Given the description of an element on the screen output the (x, y) to click on. 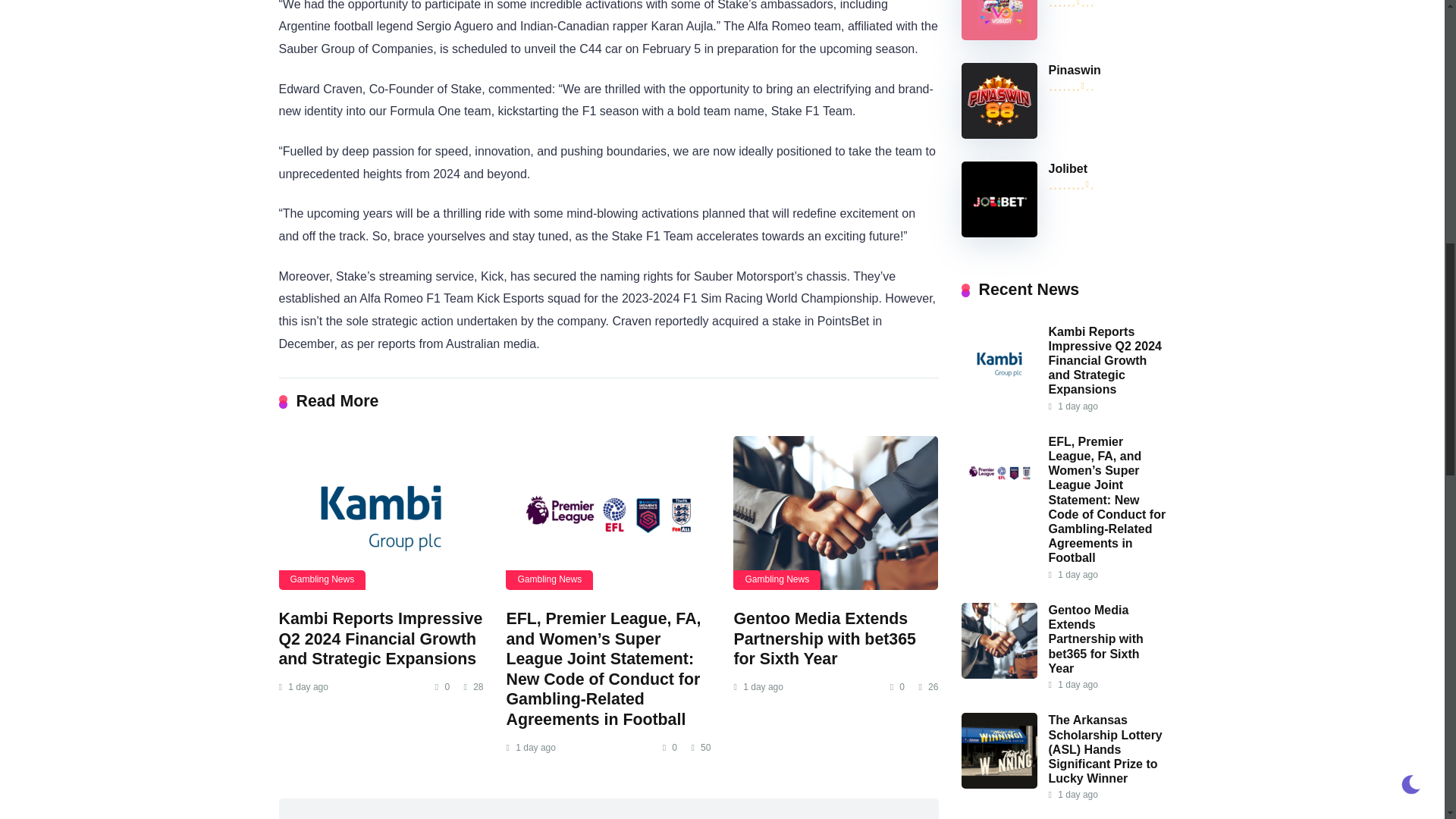
Jolibet (1067, 169)
Gentoo Media Extends Partnership with bet365 for Sixth Year (824, 638)
Gambling News (777, 579)
Gentoo Media Extends Partnership with bet365 for Sixth Year (824, 638)
Pinaswin (1074, 69)
Voslot Online Casino (998, 35)
Gambling News (322, 579)
Gambling News (548, 579)
Gentoo Media Extends Partnership with bet365 for Sixth Year (835, 512)
